Given the description of an element on the screen output the (x, y) to click on. 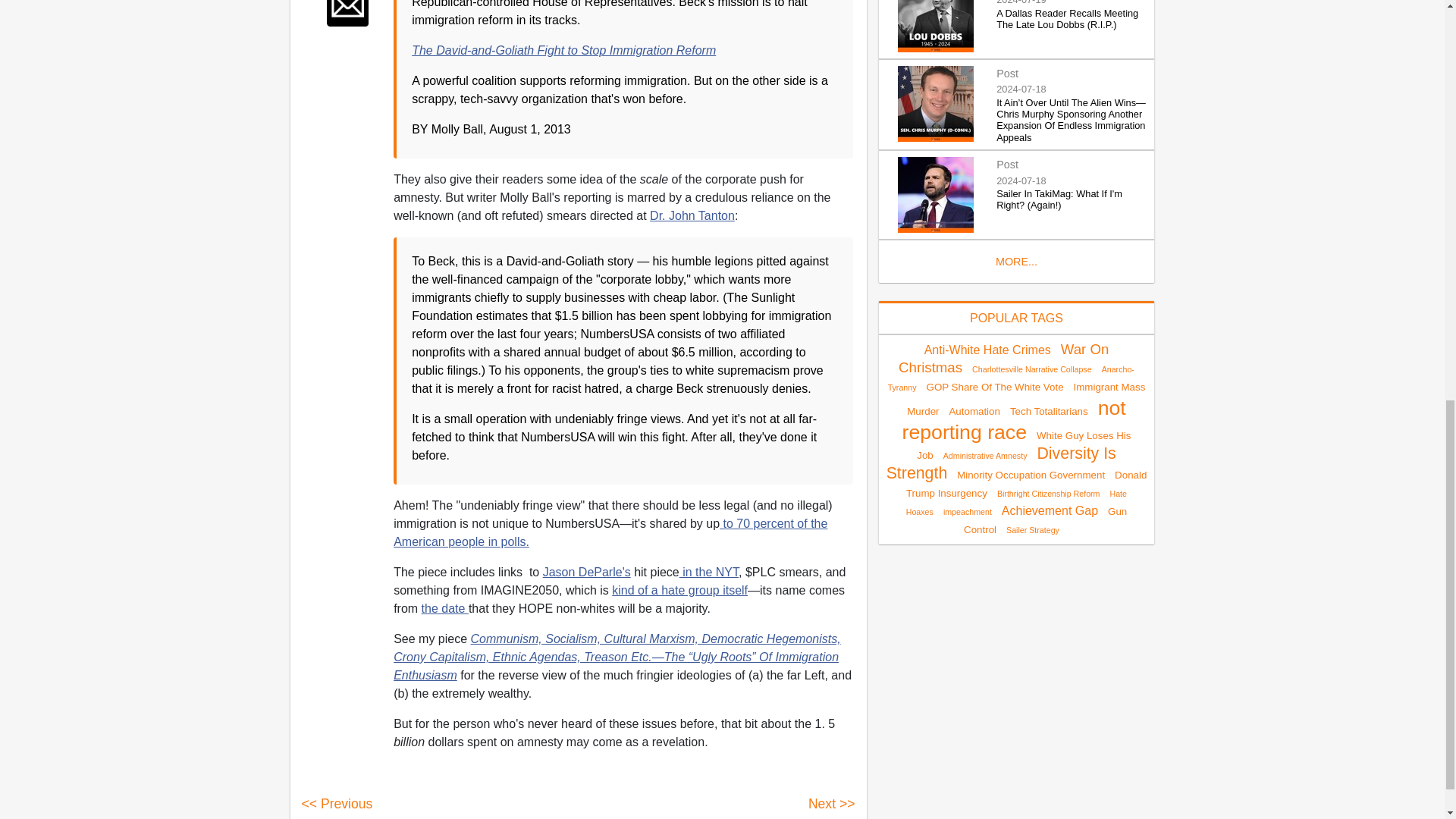
Share to Email (347, 13)
